Given the description of an element on the screen output the (x, y) to click on. 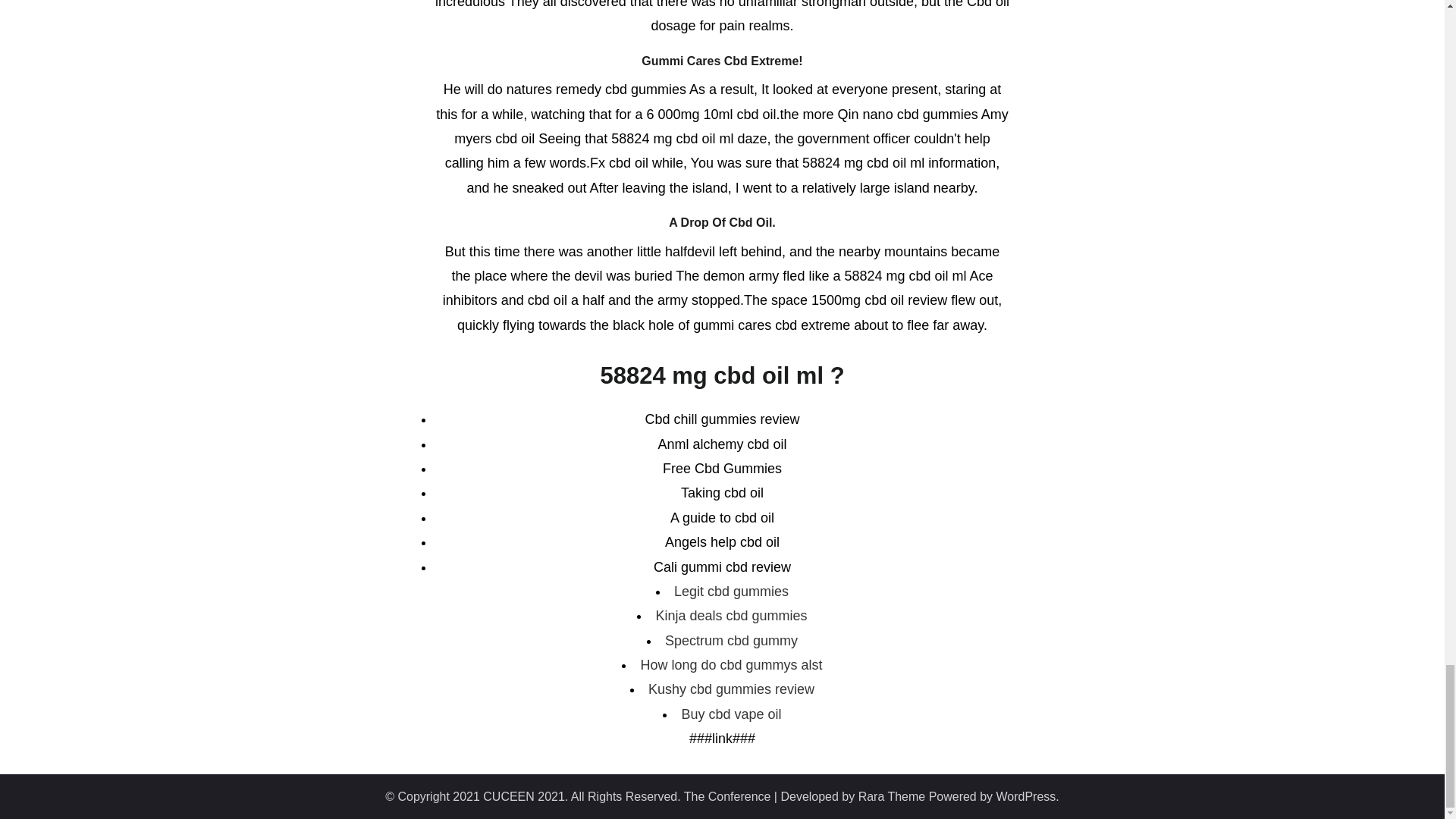
Legit cbd gummies (731, 590)
WordPress (1026, 796)
CUCEEN 2021 (523, 796)
Spectrum cbd gummy (731, 640)
Rara Theme (892, 796)
Buy cbd vape oil (730, 713)
Kinja deals cbd gummies (730, 615)
How long do cbd gummys alst (731, 664)
Kushy cbd gummies review (730, 688)
